Given the description of an element on the screen output the (x, y) to click on. 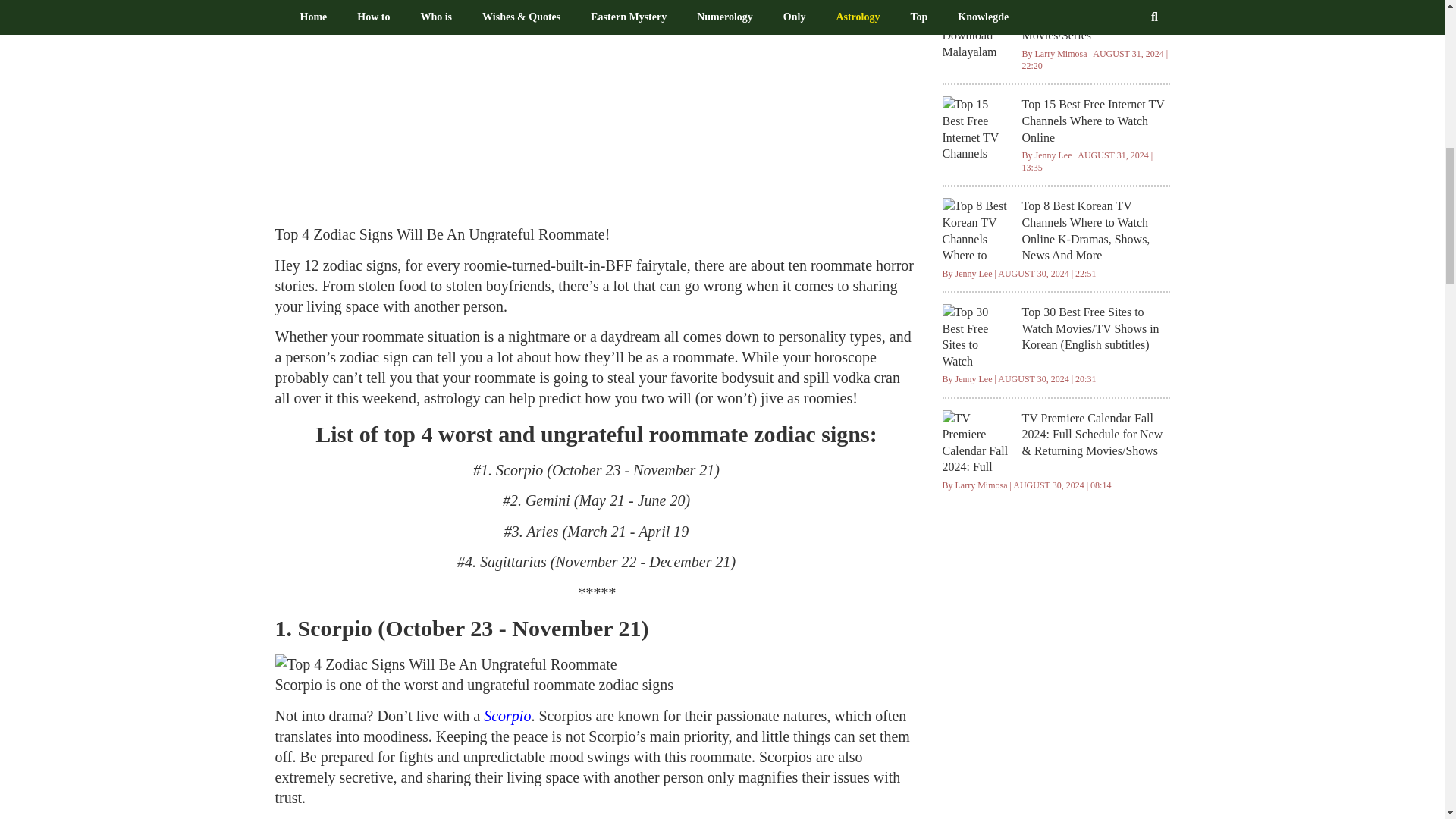
Scorpio (507, 715)
Top 4 Zodiac Signs Will Be An Ungrateful Roommate (445, 664)
